Given the description of an element on the screen output the (x, y) to click on. 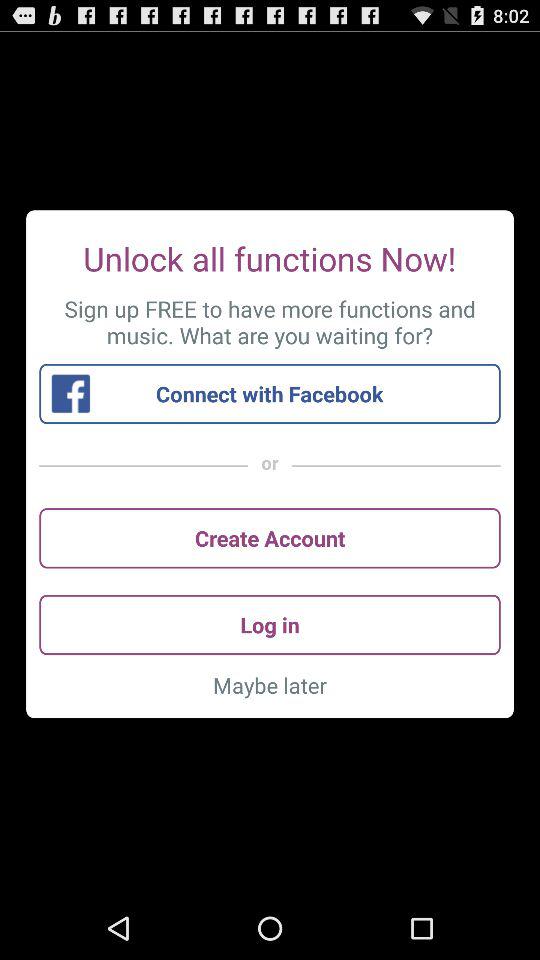
turn off the maybe later at the bottom (269, 685)
